Given the description of an element on the screen output the (x, y) to click on. 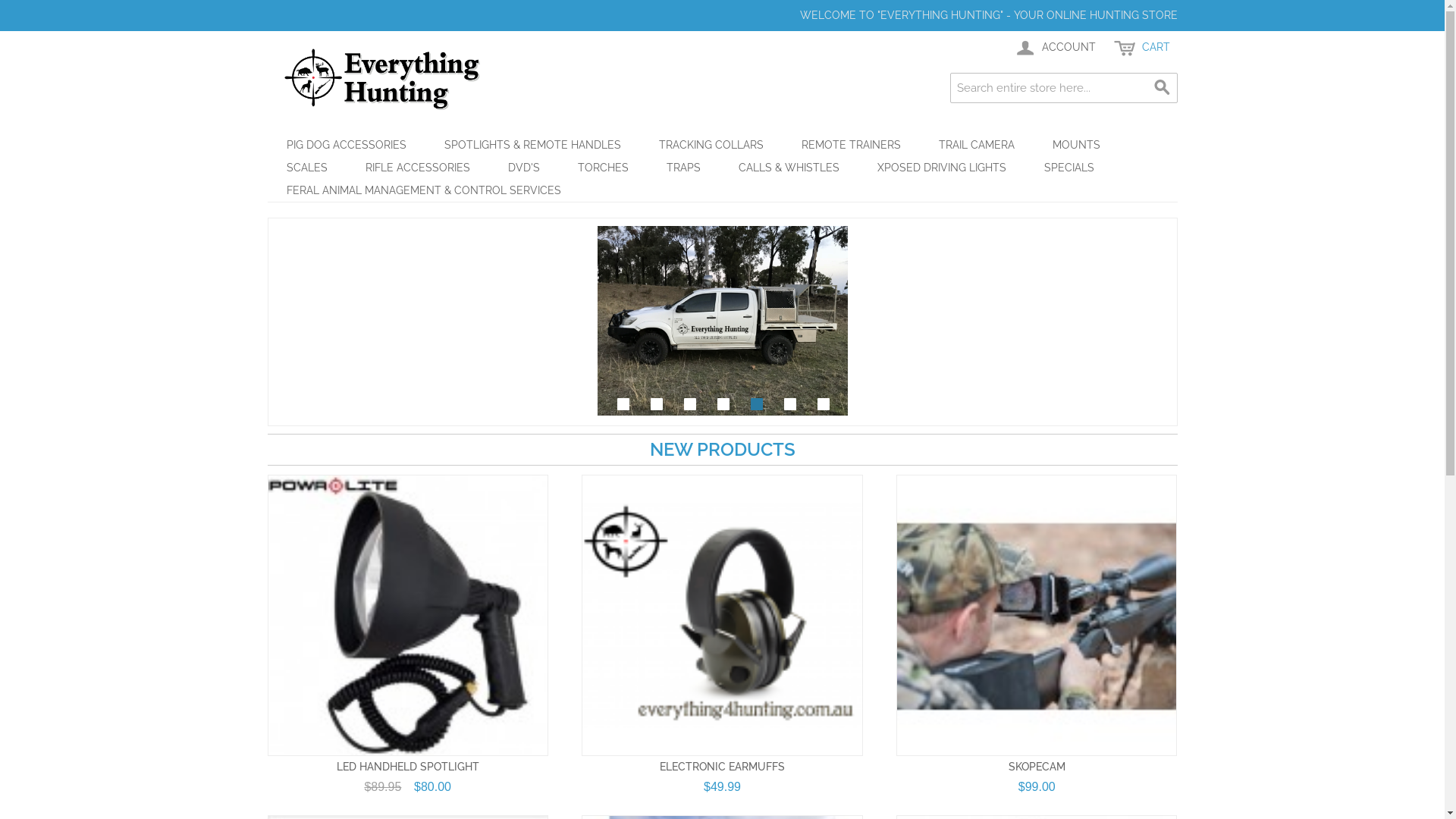
XPOSED DRIVING LIGHTS Element type: text (941, 167)
PIG DOG ACCESSORIES Element type: text (345, 144)
SPECIALS Element type: text (1069, 167)
ELECTRONIC EARMUFFS Element type: text (721, 766)
LED Handheld Spotlight Element type: hover (406, 614)
Search Element type: hover (1161, 87)
LED HANDHELD SPOTLIGHT Element type: text (407, 766)
SPOTLIGHTS & REMOTE HANDLES Element type: text (531, 144)
TRACKING COLLARS Element type: text (711, 144)
SCALES Element type: text (305, 167)
DVD'S Element type: text (523, 167)
SKOPECAM Element type: text (1036, 766)
CART Element type: text (1140, 47)
FERAL ANIMAL MANAGEMENT & CONTROL SERVICES Element type: text (422, 189)
EHUte Element type: hover (722, 320)
TRAPS Element type: text (683, 167)
MOUNTS Element type: text (1075, 144)
REMOTE TRAINERS Element type: text (850, 144)
Electronic Earmuffs Element type: hover (721, 614)
Skopecam Element type: hover (1036, 614)
CALLS & WHISTLES Element type: text (787, 167)
TRAIL CAMERA Element type: text (975, 144)
ACCOUNT Element type: text (1053, 47)
TORCHES Element type: text (602, 167)
RIFLE ACCESSORIES Element type: text (416, 167)
Ute Element type: hover (722, 320)
